Given the description of an element on the screen output the (x, y) to click on. 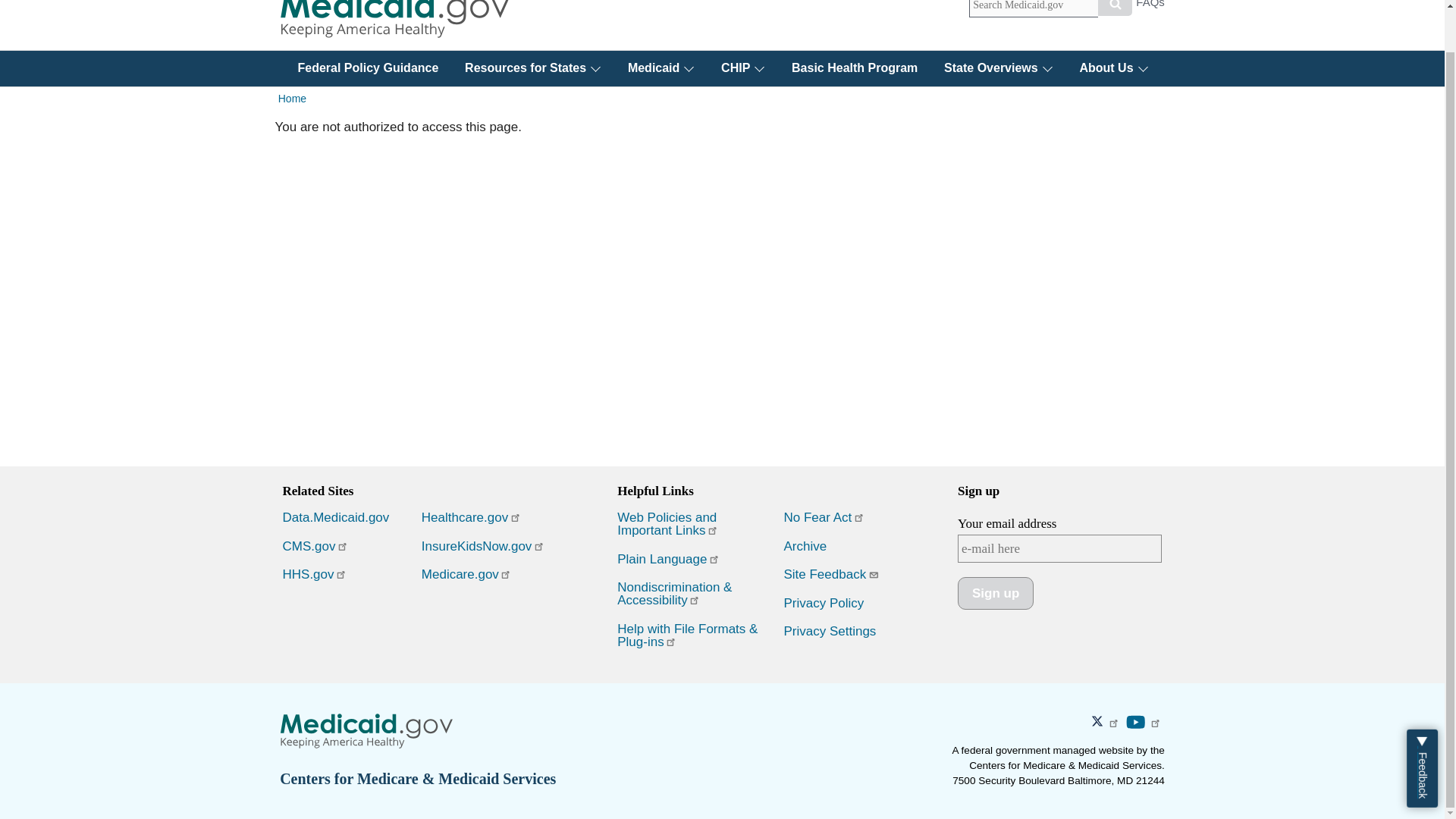
CMS Twitter - Opens in a new window (1107, 722)
YouTube (1135, 721)
YouTube (1135, 721)
CMS YouTube - Opens in a new window (1144, 722)
Privacy settings (829, 631)
FAQs (1149, 9)
Home (393, 24)
